Given the description of an element on the screen output the (x, y) to click on. 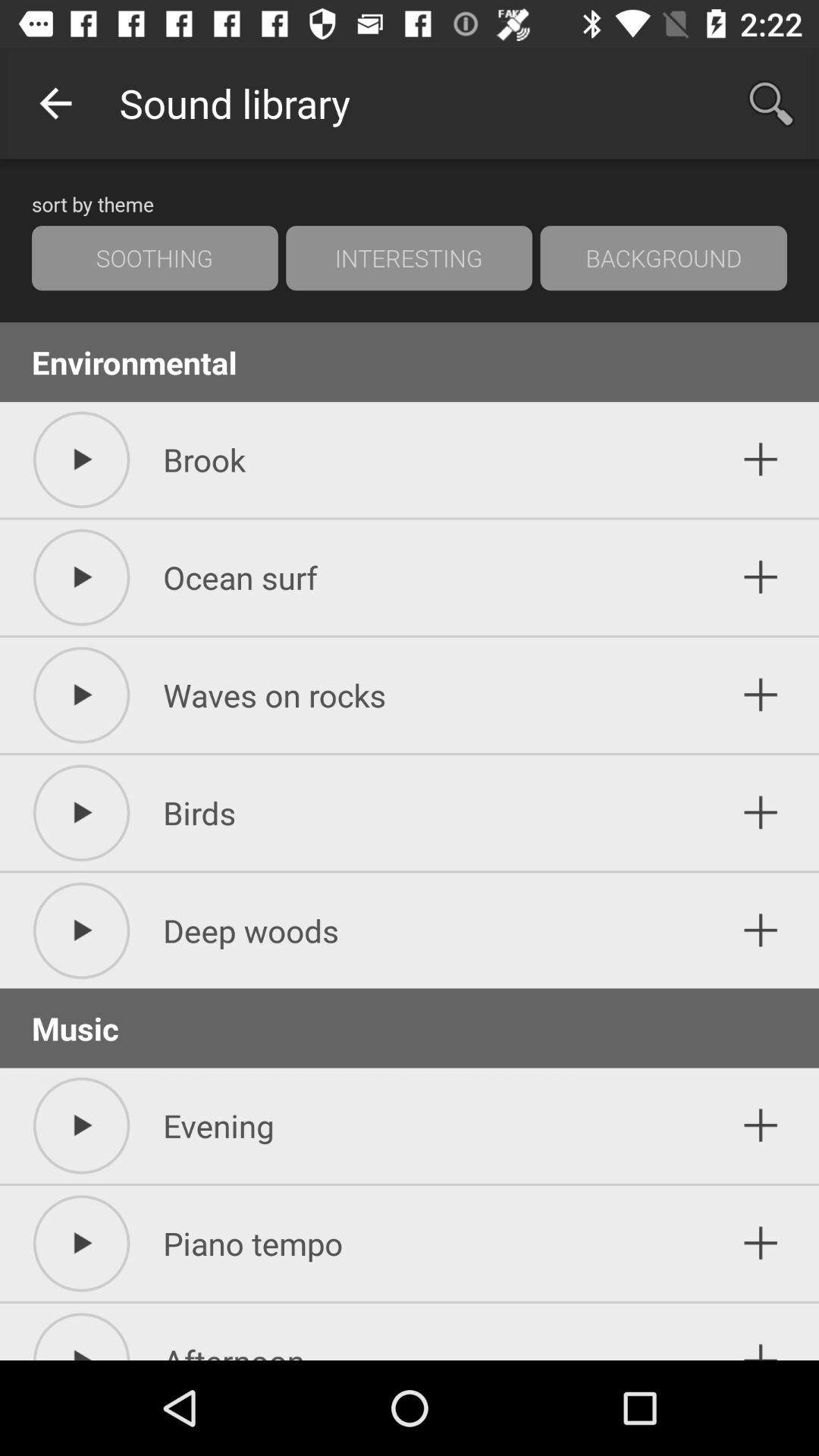
add to list (761, 695)
